Given the description of an element on the screen output the (x, y) to click on. 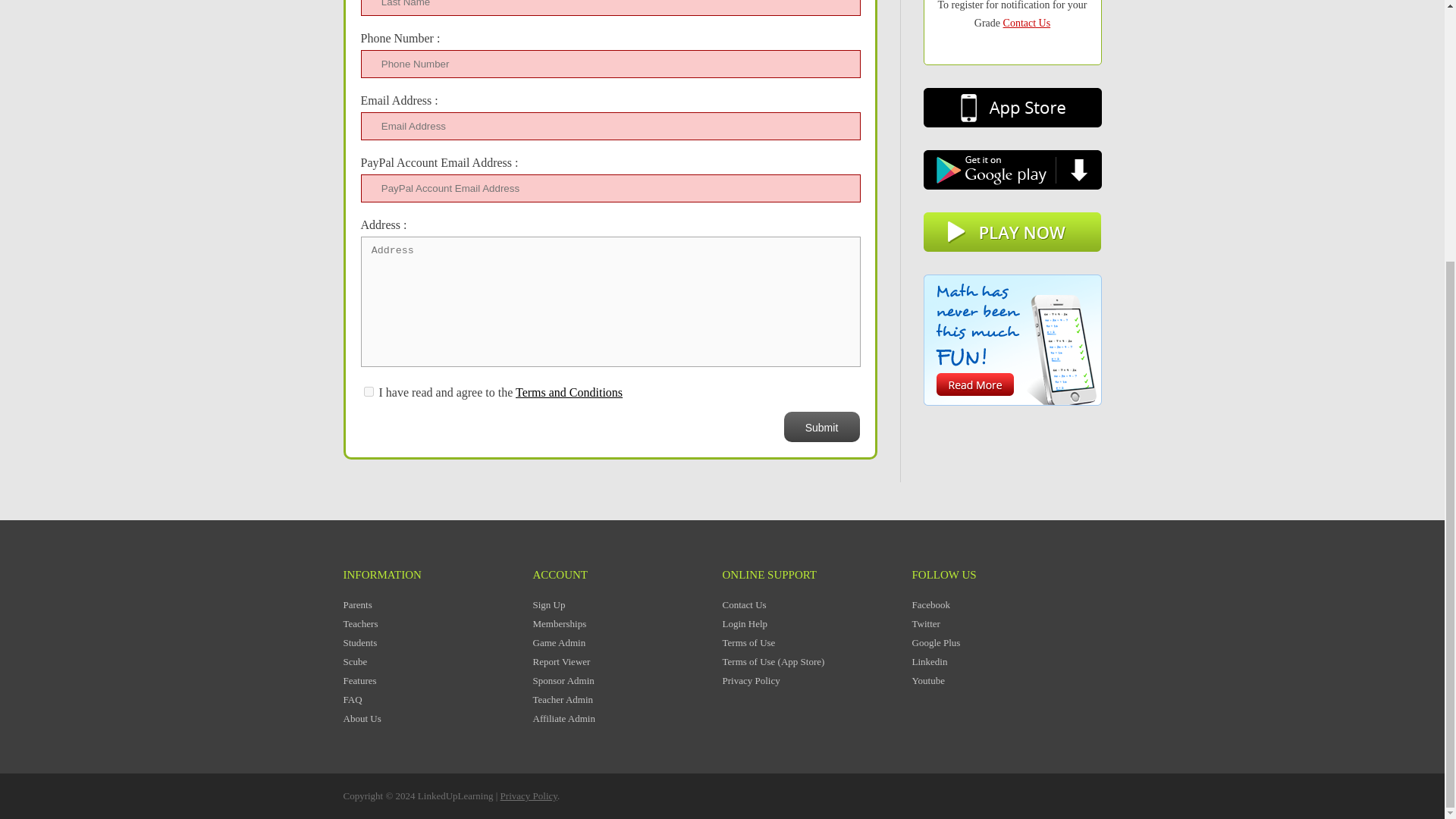
Contact Us (1027, 23)
check (369, 391)
Submit (822, 426)
Submit (822, 426)
Terms and Conditions (569, 391)
